Given the description of an element on the screen output the (x, y) to click on. 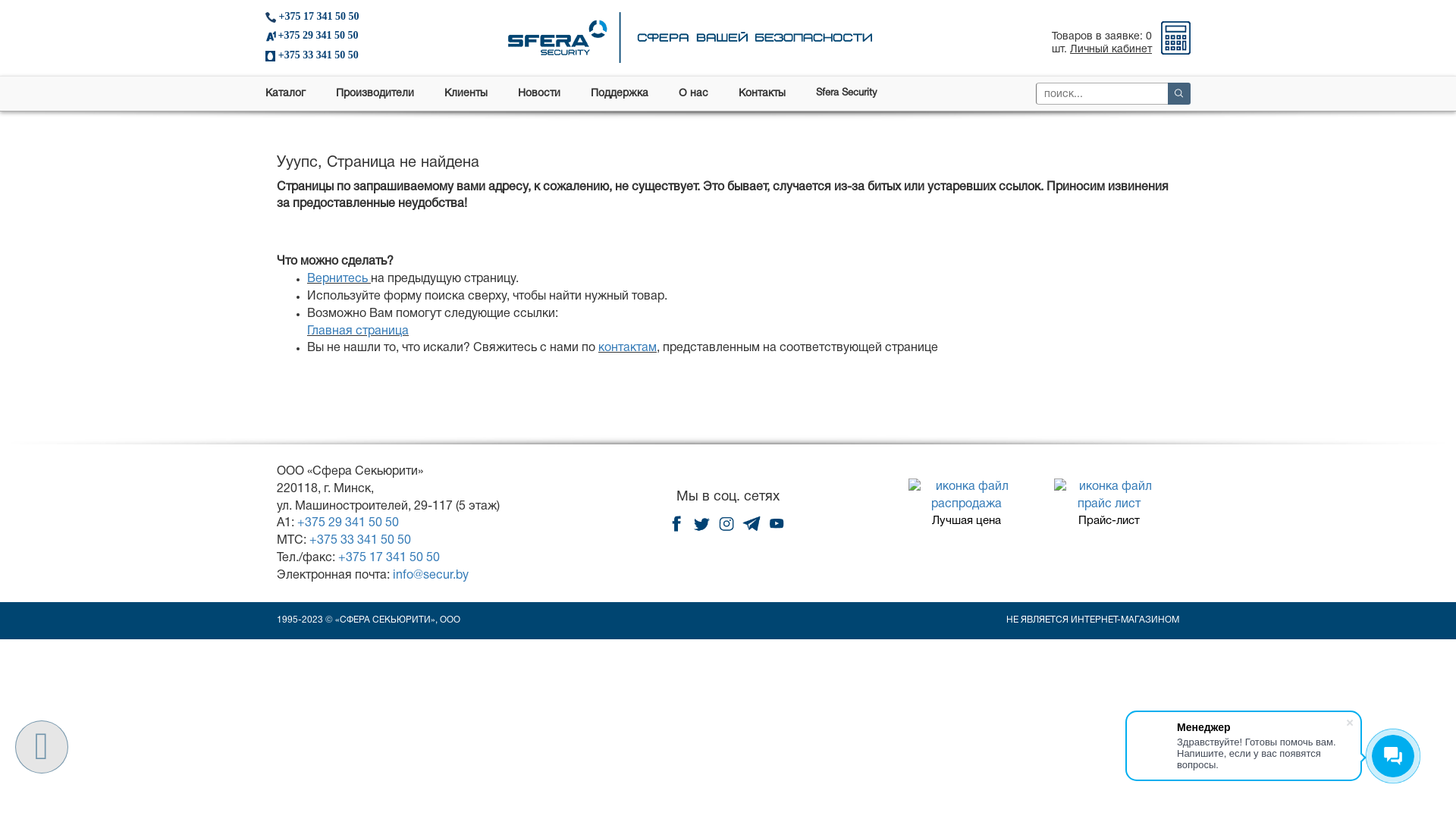
+375 17 341 50 50 Element type: text (342, 16)
+375 33 341 50 50 Element type: text (360, 540)
+375 29 341 50 50 Element type: text (342, 35)
+375 29 341 50 50 Element type: text (347, 522)
info@secur.by Element type: text (430, 575)
+375 17 341 50 50 Element type: text (388, 557)
+375 33 341 50 50 Element type: text (342, 54)
Velcom Element type: hover (270, 35)
Sfera Security Element type: text (846, 93)
